Given the description of an element on the screen output the (x, y) to click on. 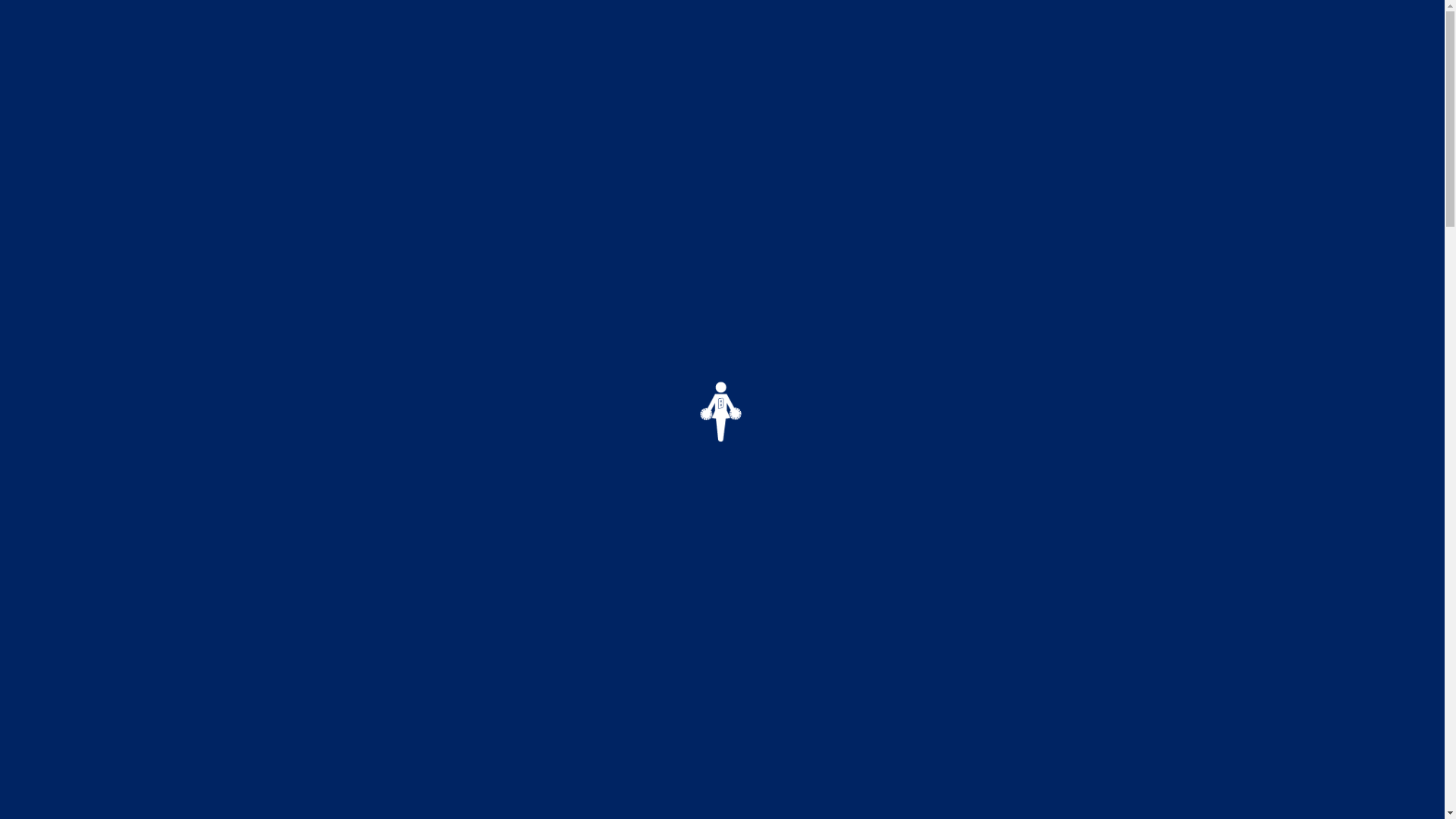
MAKE A BOOKING Element type: text (113, 790)
Go to home page Element type: hover (722, 76)
Toggle Navigation Element type: text (1392, 56)
